Given the description of an element on the screen output the (x, y) to click on. 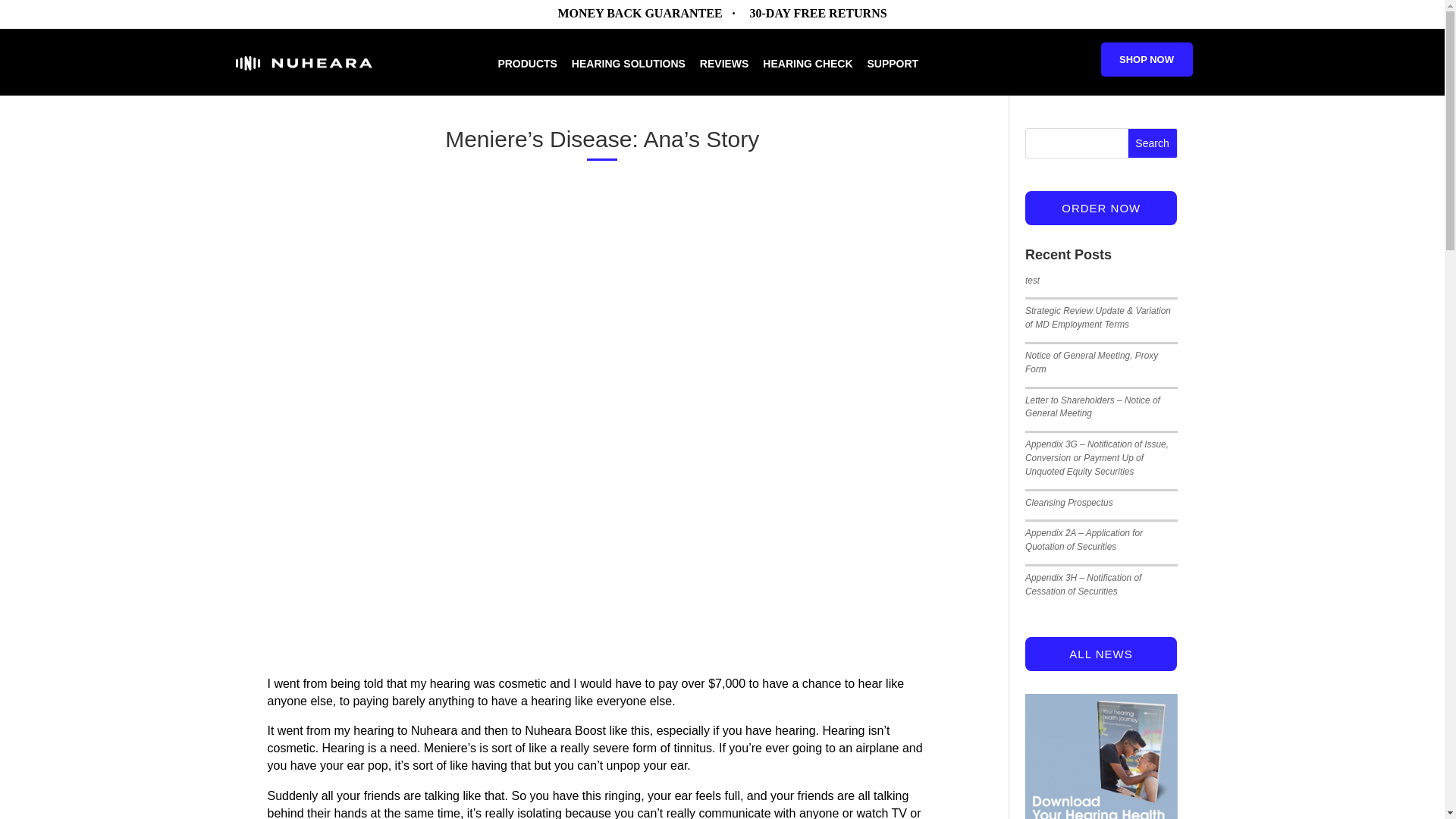
Notice of General Meeting, Proxy Form (1091, 362)
30-DAY FREE RETURNS (817, 12)
Cleansing Prospectus (1069, 502)
MONEY BACK GUARANTEE (639, 12)
HEARING CHECK (806, 76)
ALL NEWS (1100, 653)
SHOP NOW (1146, 59)
REVIEWS (724, 76)
ORDER NOW (1100, 207)
Search (1151, 142)
